Given the description of an element on the screen output the (x, y) to click on. 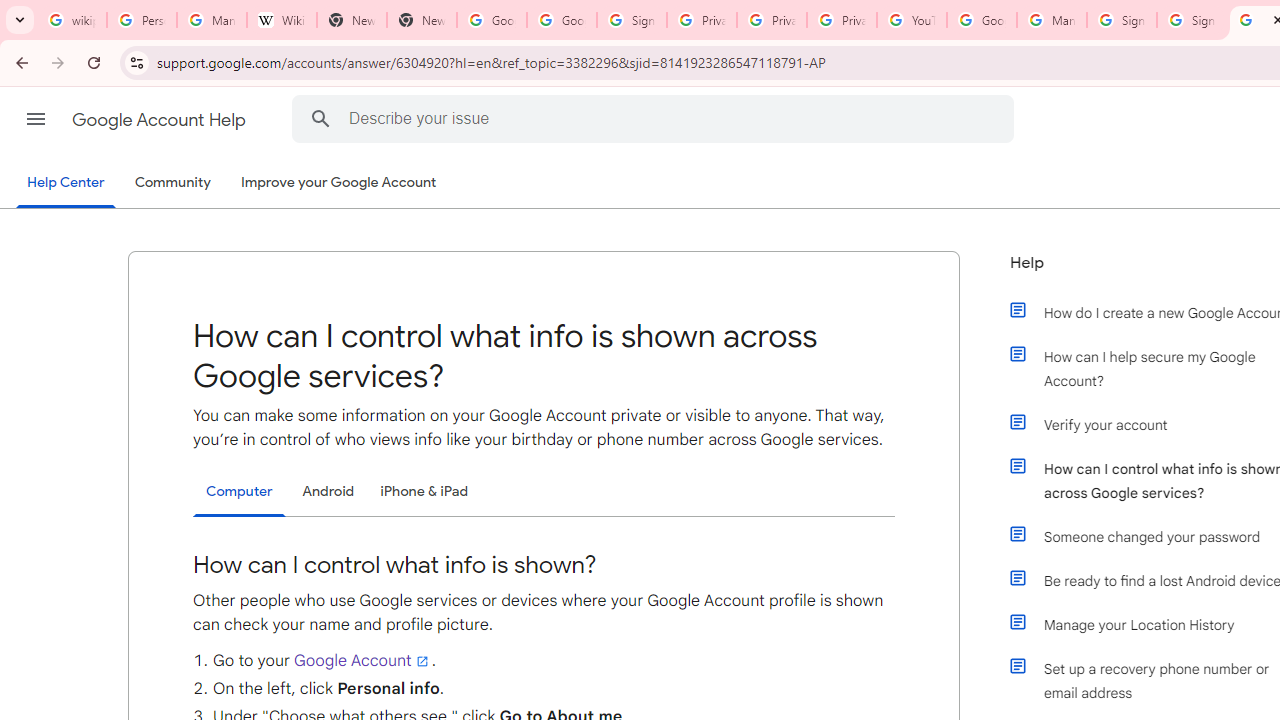
Sign in - Google Accounts (631, 20)
Personalization & Google Search results - Google Search Help (141, 20)
